Given the description of an element on the screen output the (x, y) to click on. 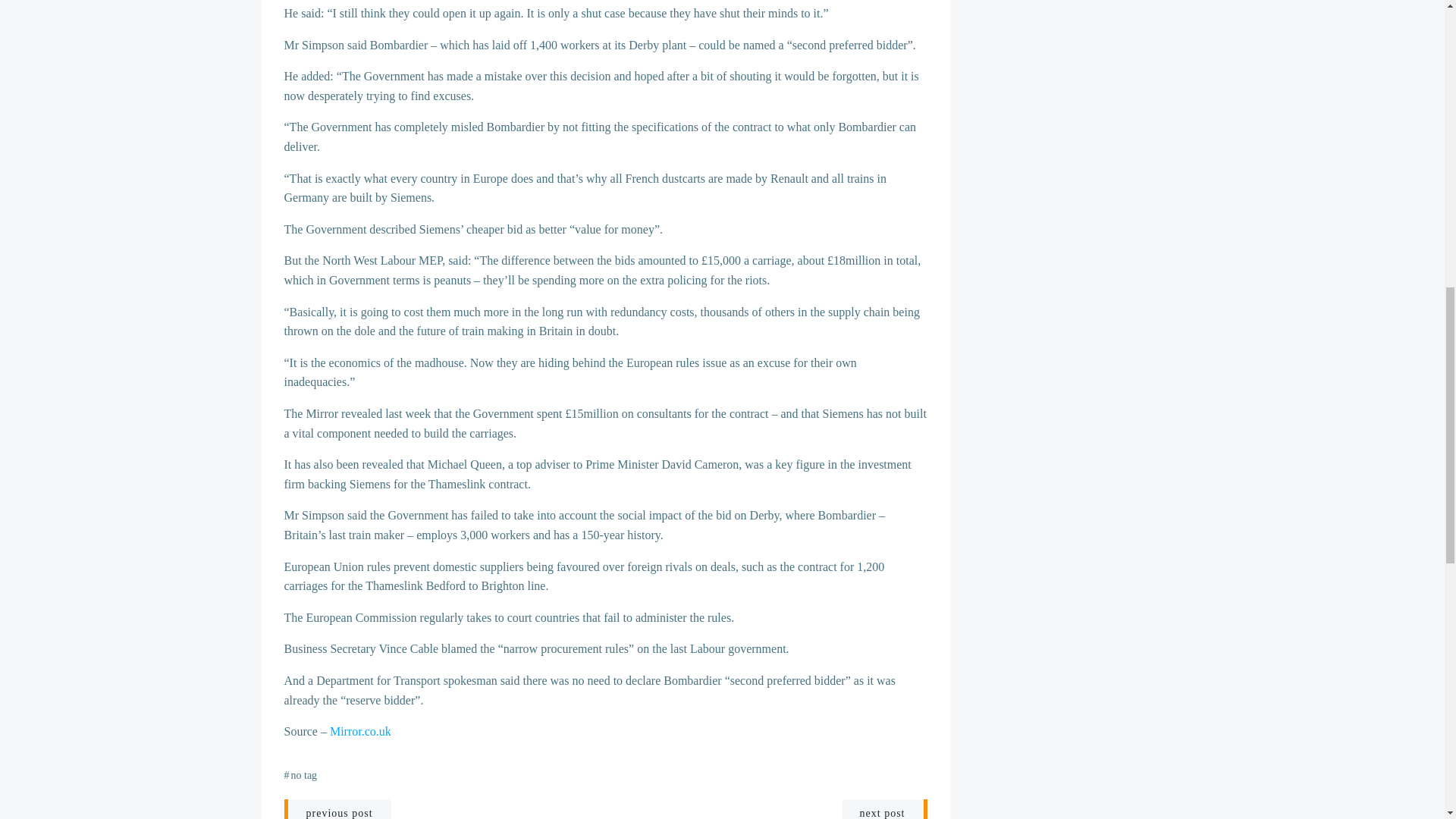
Mirror.co.uk (360, 730)
next post (884, 809)
previous post (336, 809)
